Given the description of an element on the screen output the (x, y) to click on. 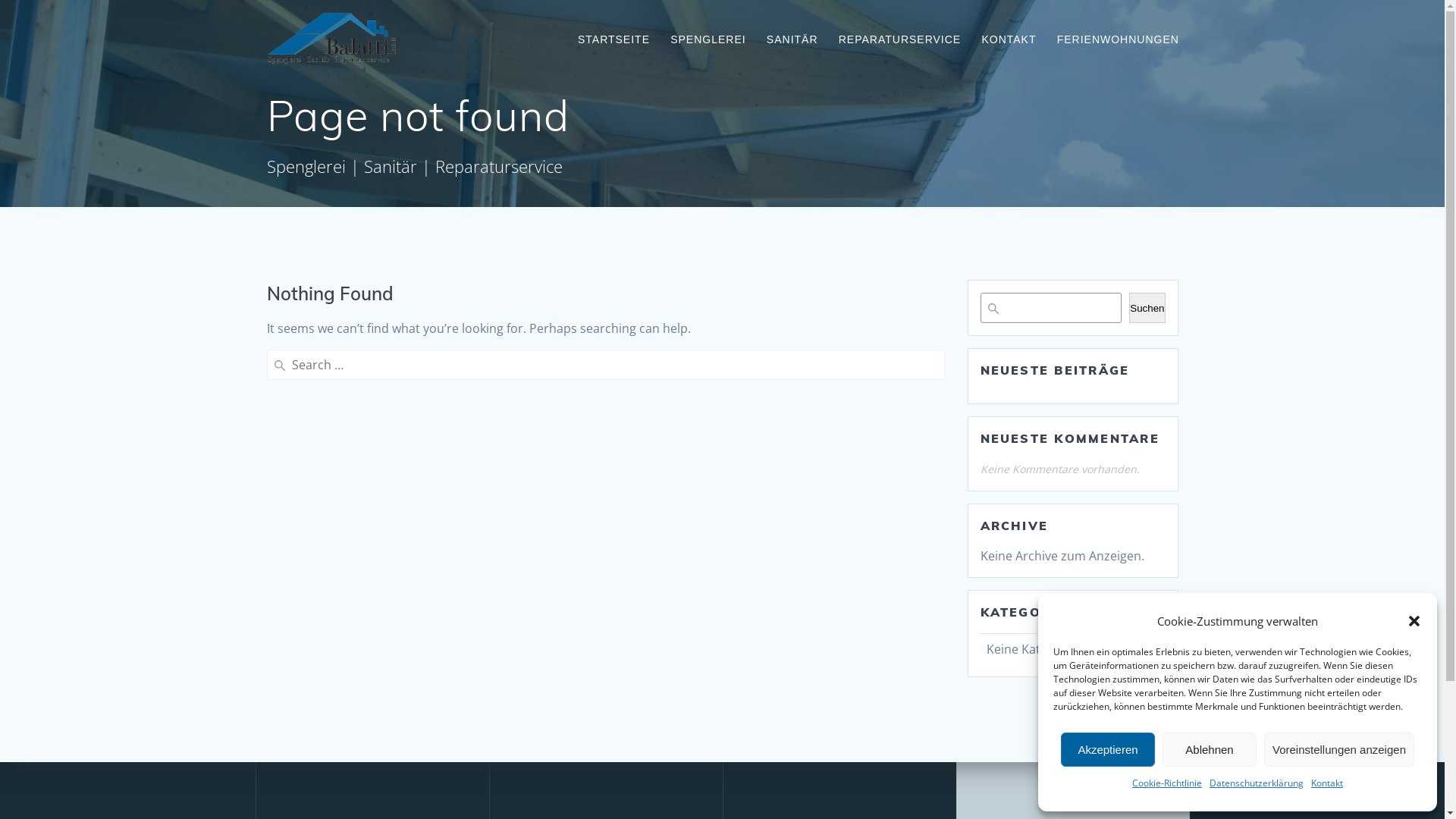
STARTSEITE Element type: text (613, 39)
Suchen Element type: text (1146, 307)
Cookie-Richtlinie Element type: text (1166, 783)
Ablehnen Element type: text (1209, 749)
SPENGLEREI Element type: text (707, 39)
Voreinstellungen anzeigen Element type: text (1339, 749)
REPARATURSERVICE Element type: text (899, 39)
KONTAKT Element type: text (1008, 39)
Akzeptieren Element type: text (1107, 749)
FERIENWOHNUNGEN Element type: text (1118, 39)
Kontakt Element type: text (1327, 783)
